Given the description of an element on the screen output the (x, y) to click on. 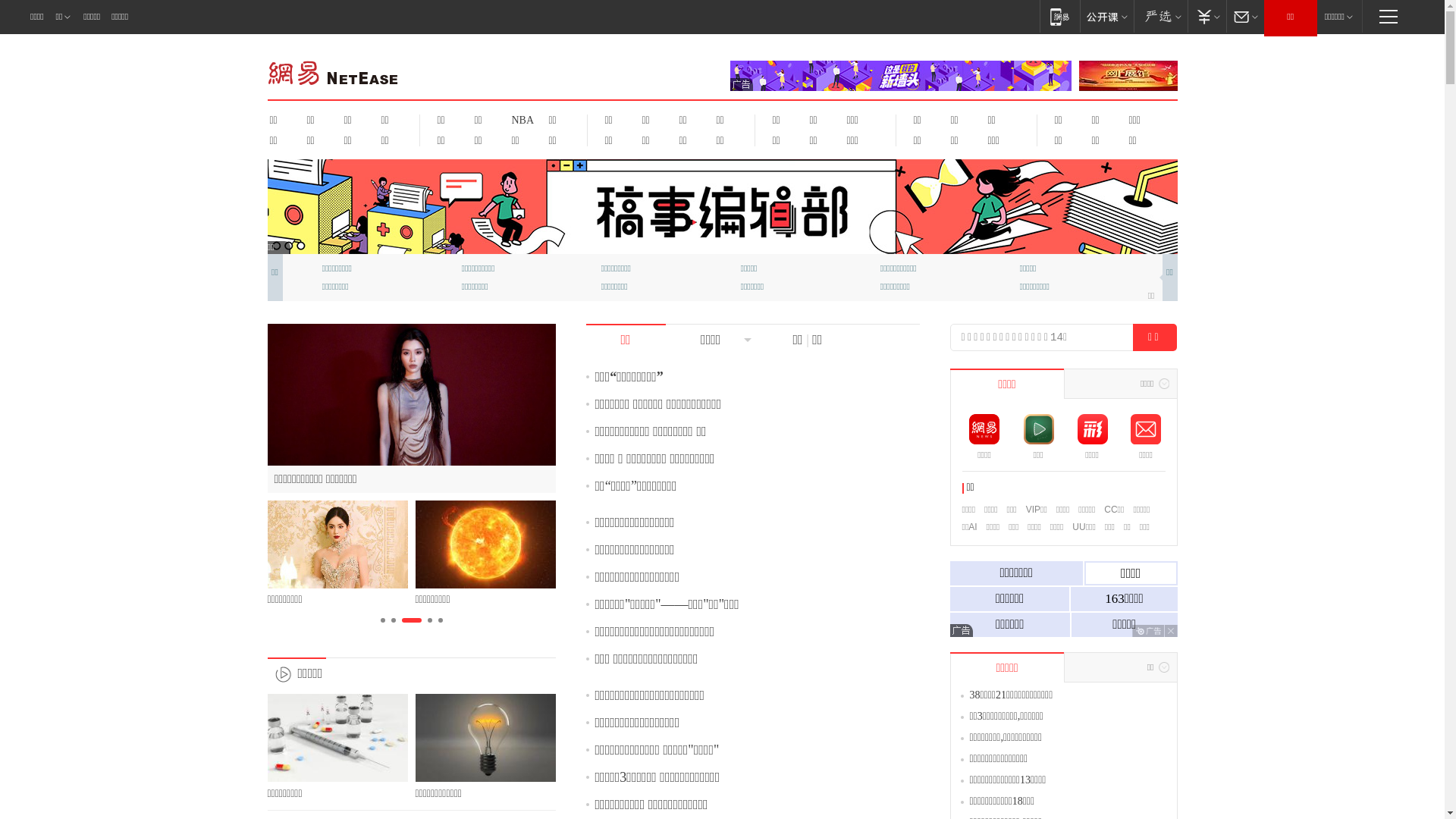
NBA Element type: text (520, 119)
